Given the description of an element on the screen output the (x, y) to click on. 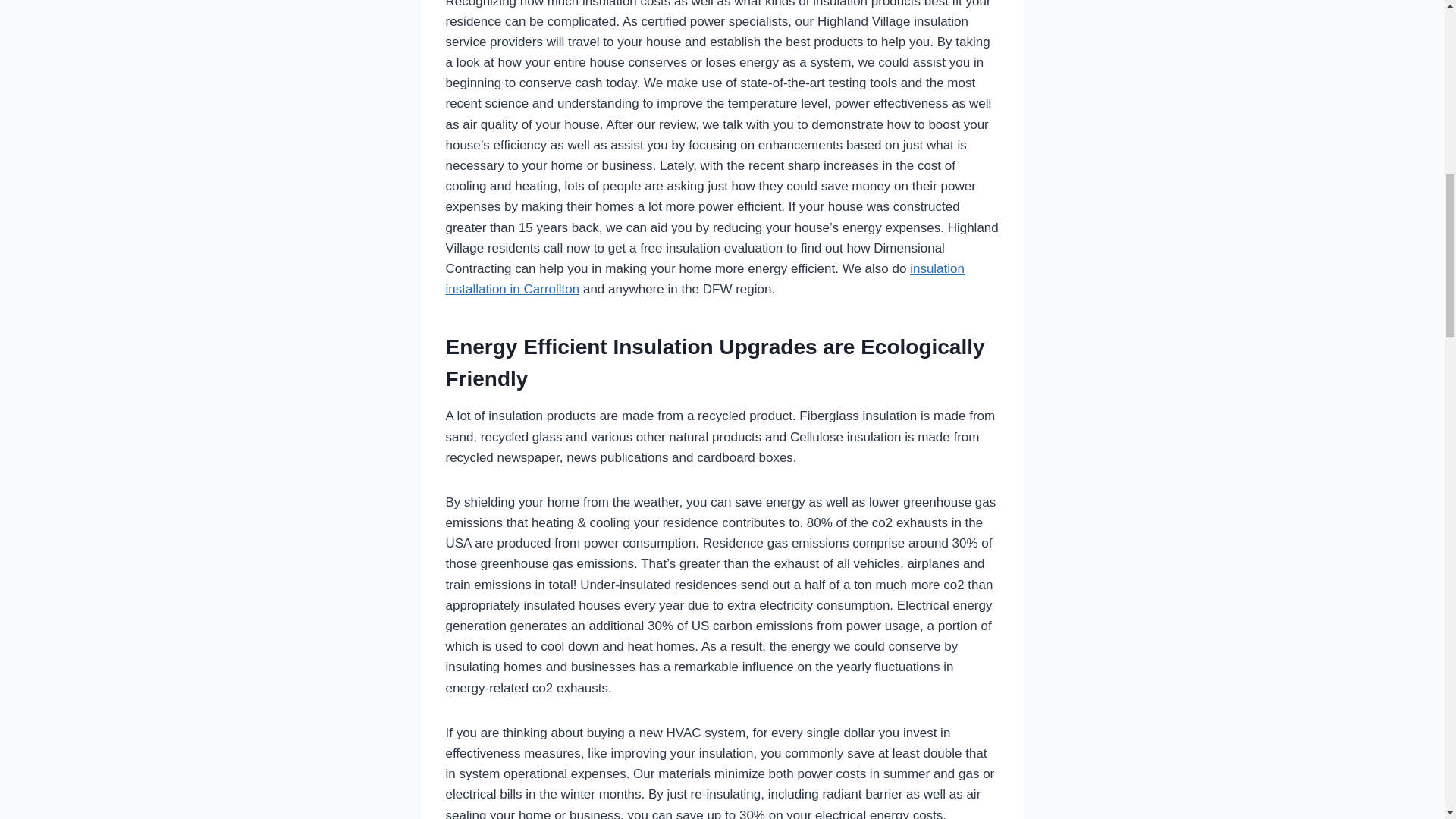
insulation installation in Carrollton (704, 278)
